Given the description of an element on the screen output the (x, y) to click on. 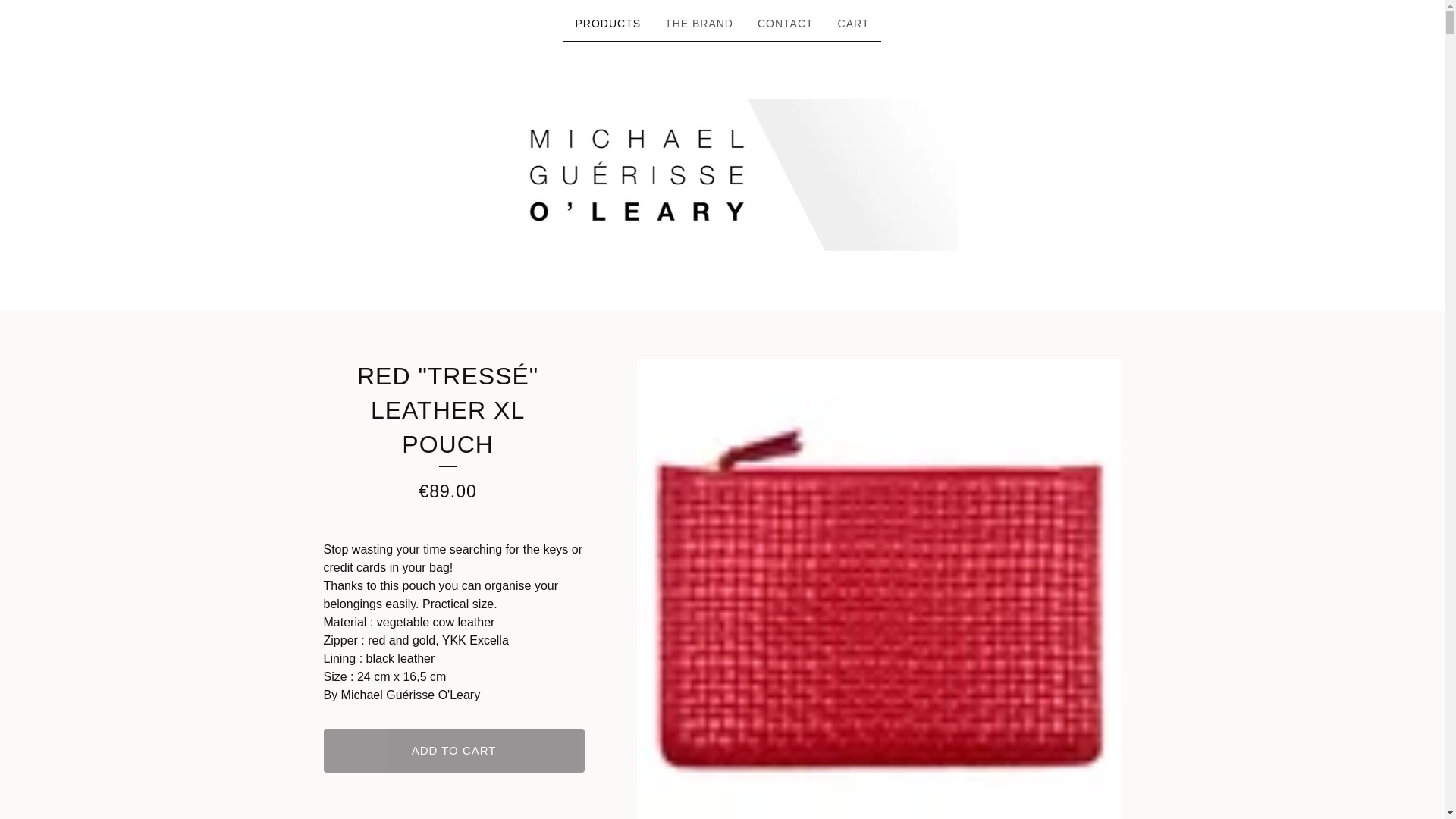
View The Brand (699, 23)
PRODUCTS (608, 23)
CONTACT (785, 23)
THE BRAND (699, 23)
CART (853, 23)
Home (722, 174)
ADD TO CART (453, 750)
